Given the description of an element on the screen output the (x, y) to click on. 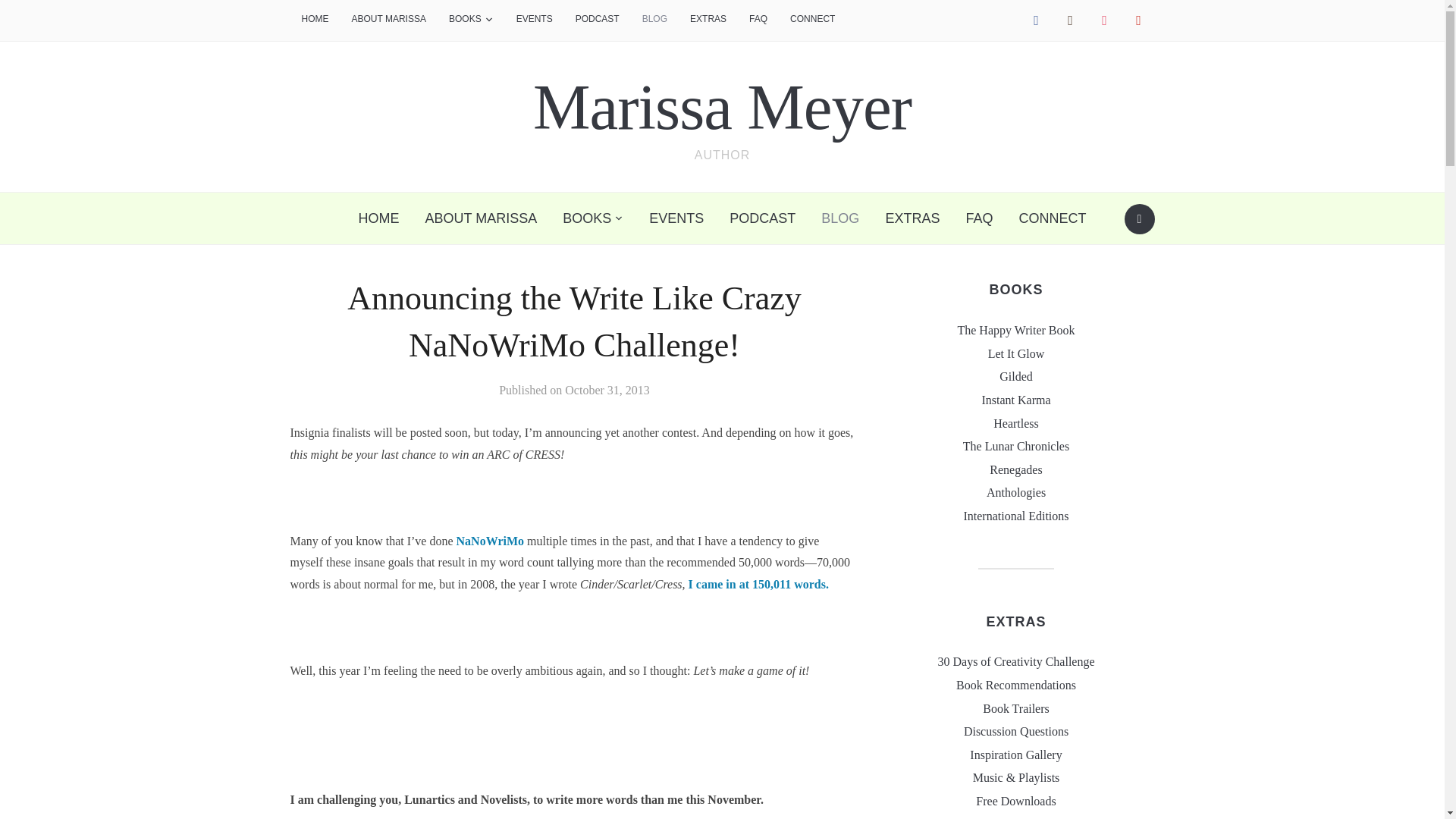
nanowrimo blog post (758, 584)
ABOUT MARISSA (387, 19)
PODCAST (597, 19)
BLOG (654, 19)
CONNECT (811, 19)
HOME (314, 19)
goodreads (1070, 19)
EVENTS (534, 19)
facebook (1036, 19)
Nanowrimo (490, 540)
